Given the description of an element on the screen output the (x, y) to click on. 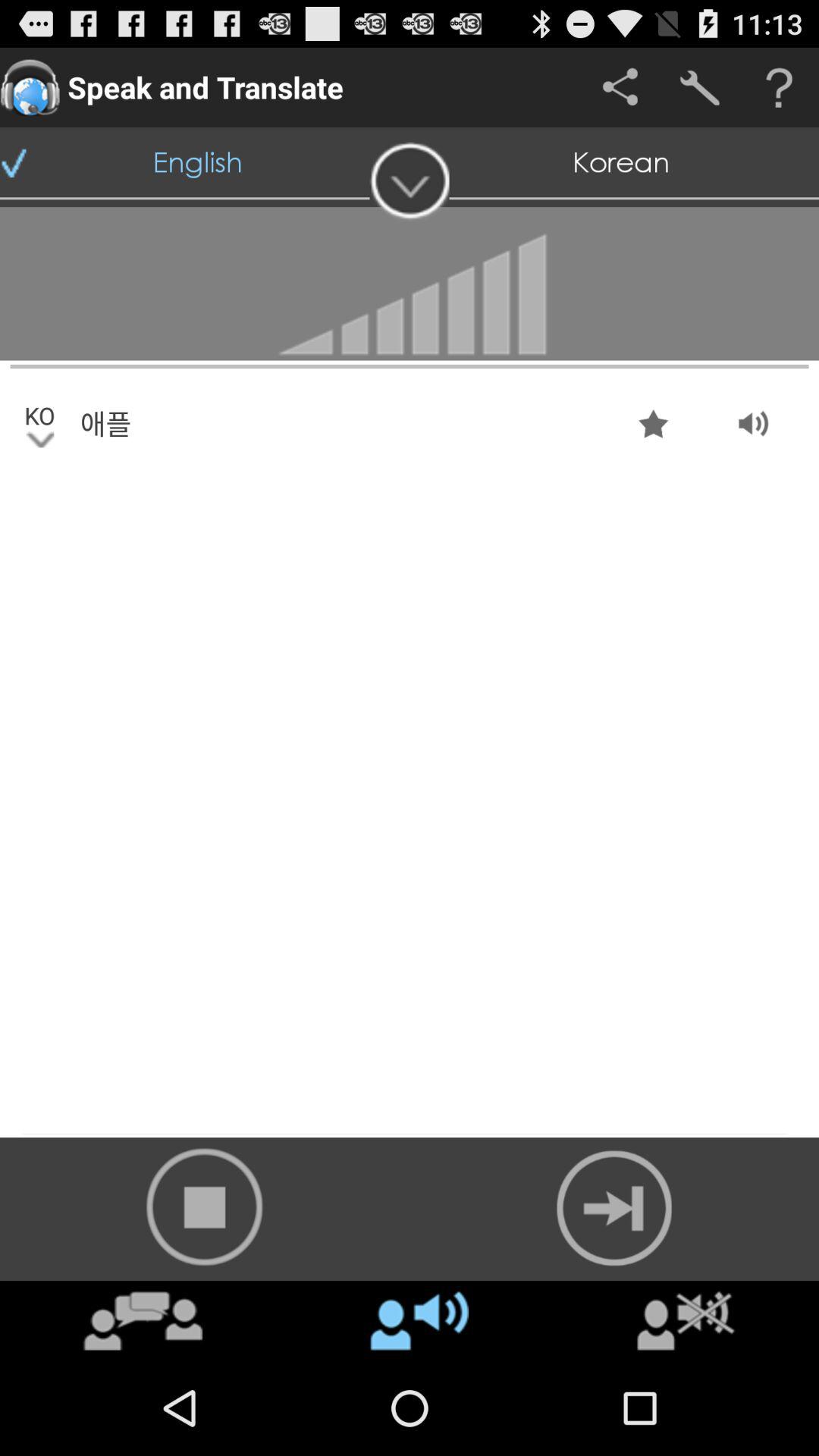
stops recording for translation (204, 1206)
